Given the description of an element on the screen output the (x, y) to click on. 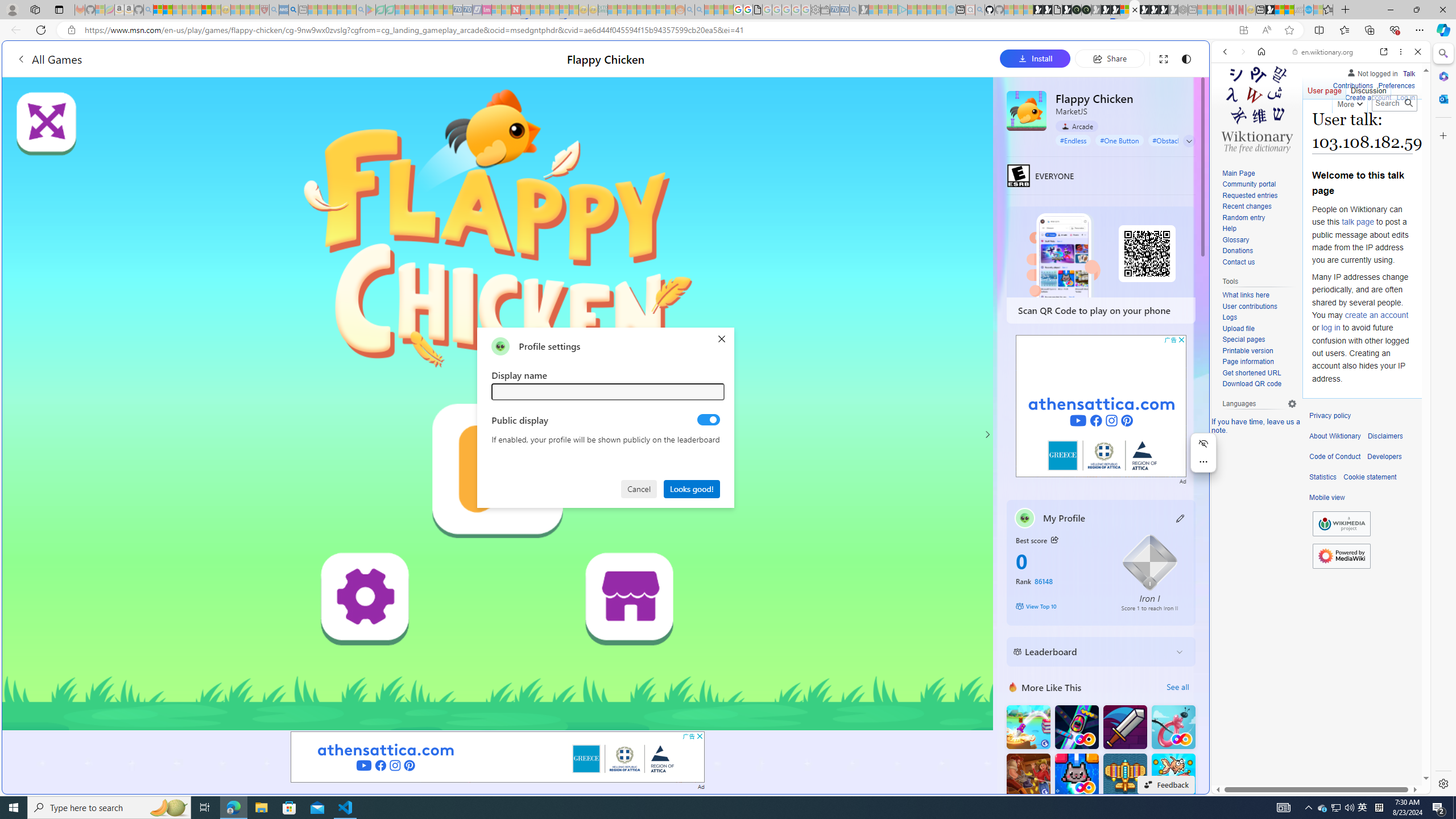
Cheap Hotels - Save70.com - Sleeping (467, 9)
Donations (1259, 251)
Contact us (1238, 261)
Logs (1229, 317)
Mobile view (1326, 497)
Cheap Car Rentals - Save70.com - Sleeping (844, 9)
Page information (1259, 361)
Powered by MediaWiki (1341, 555)
Latest Politics News & Archive | Newsweek.com - Sleeping (515, 9)
View Top 10 (1060, 605)
